Given the description of an element on the screen output the (x, y) to click on. 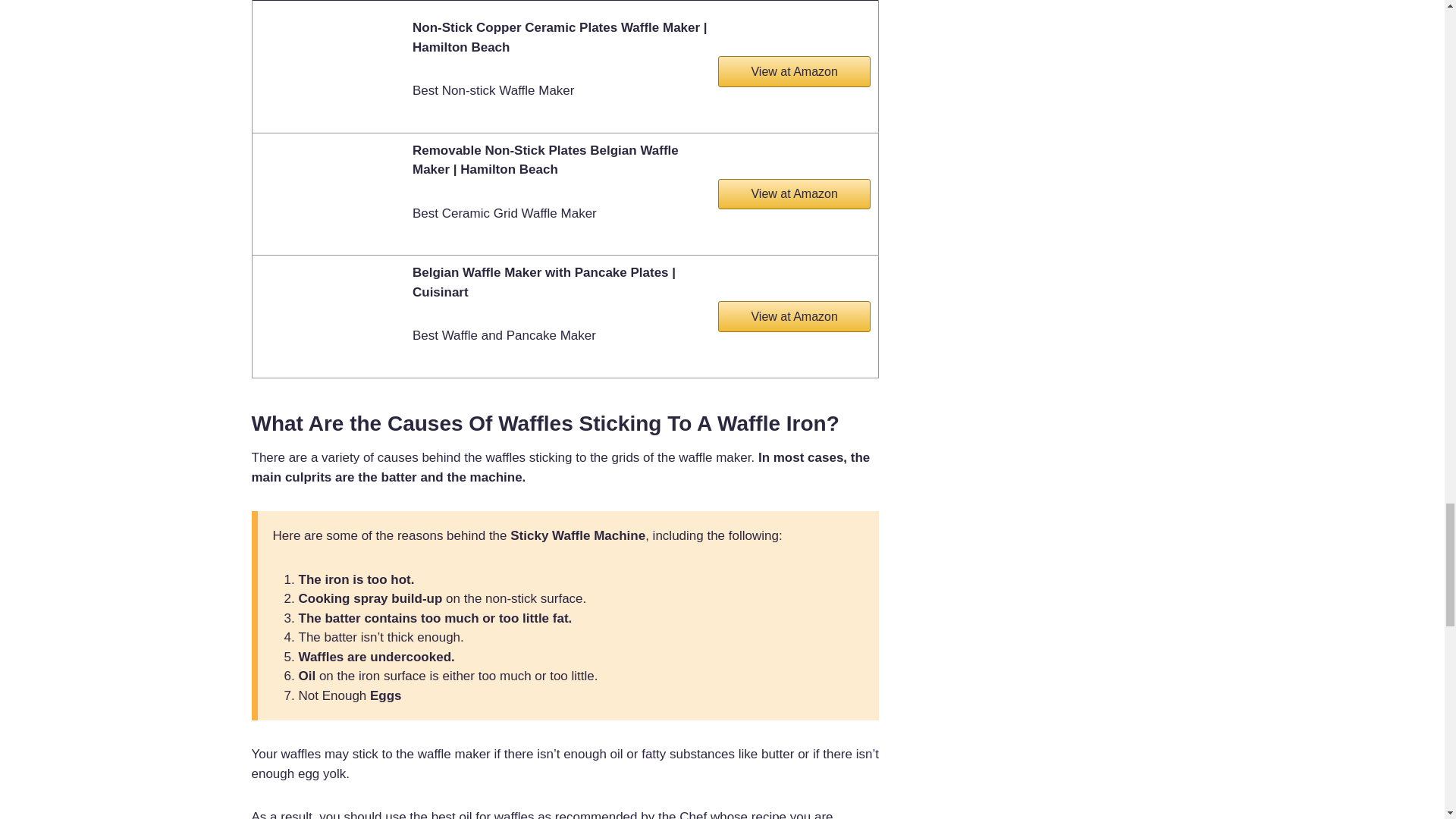
View at Amazon (793, 316)
View at Amazon (793, 71)
View at Amazon (793, 194)
